Given the description of an element on the screen output the (x, y) to click on. 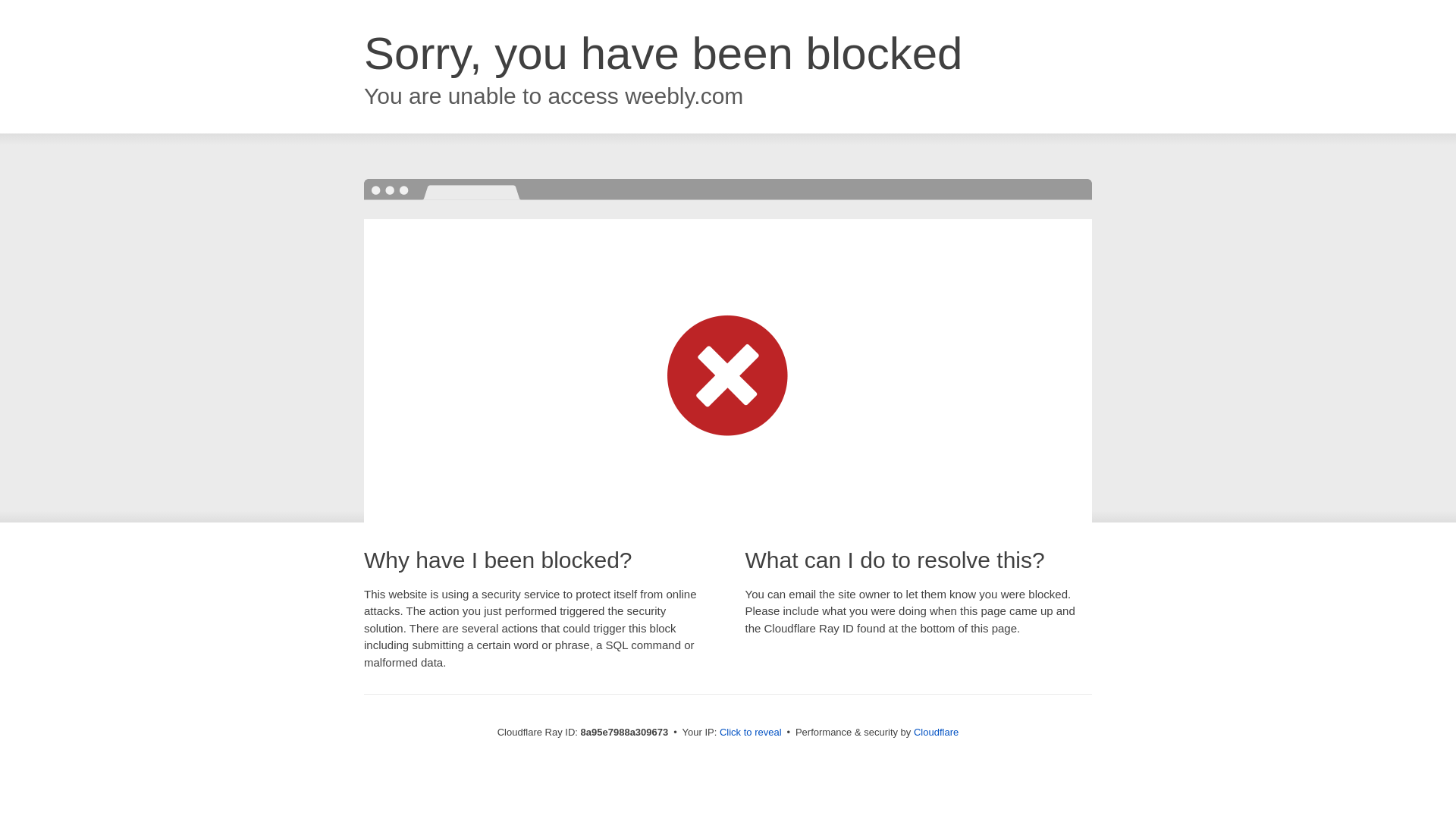
Click to reveal (750, 732)
Cloudflare (936, 731)
